Given the description of an element on the screen output the (x, y) to click on. 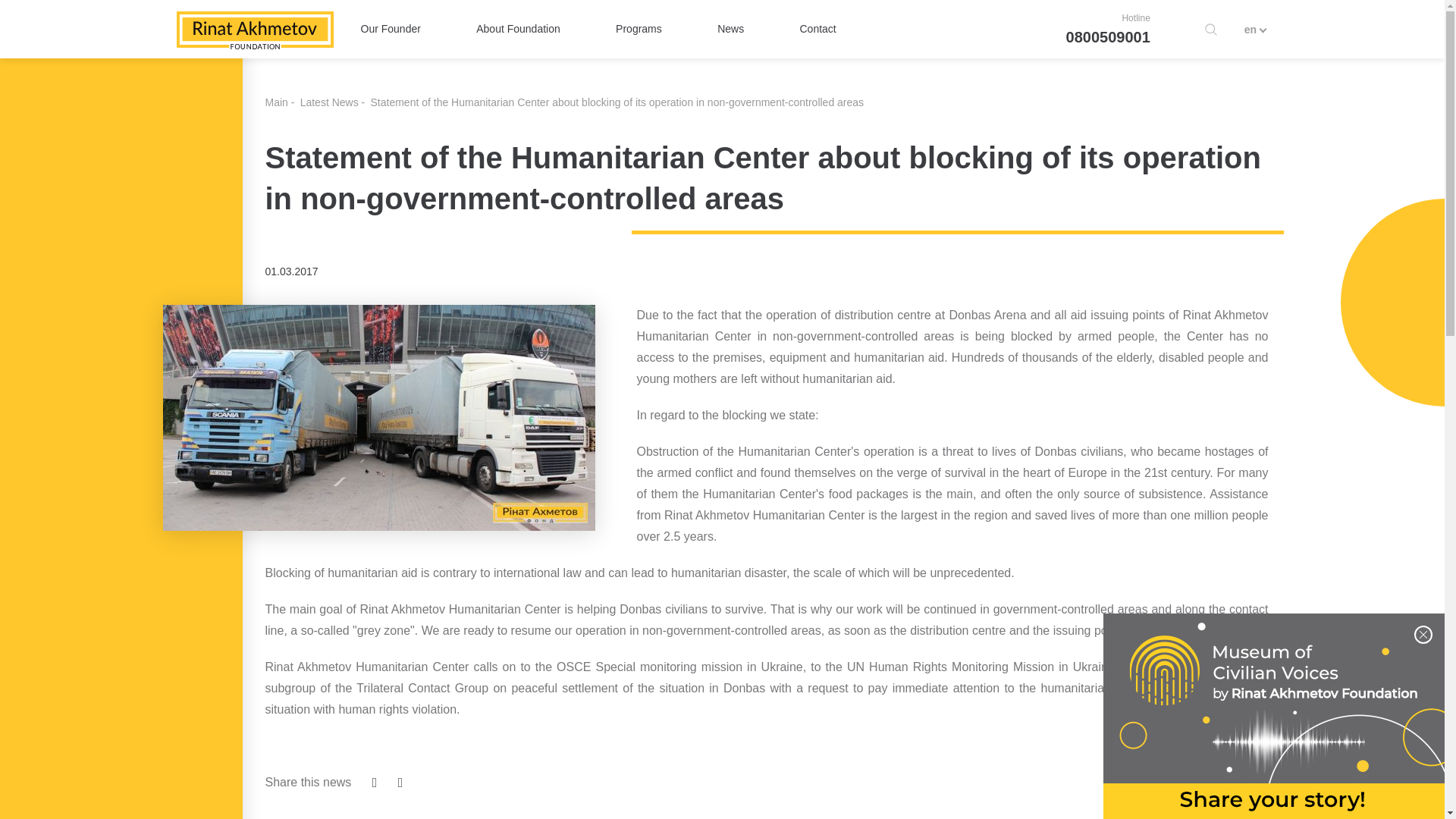
Our Founder (390, 29)
News (730, 29)
Programs (638, 29)
About Foundation (518, 29)
Contact (817, 29)
0800509001 (1107, 36)
